Given the description of an element on the screen output the (x, y) to click on. 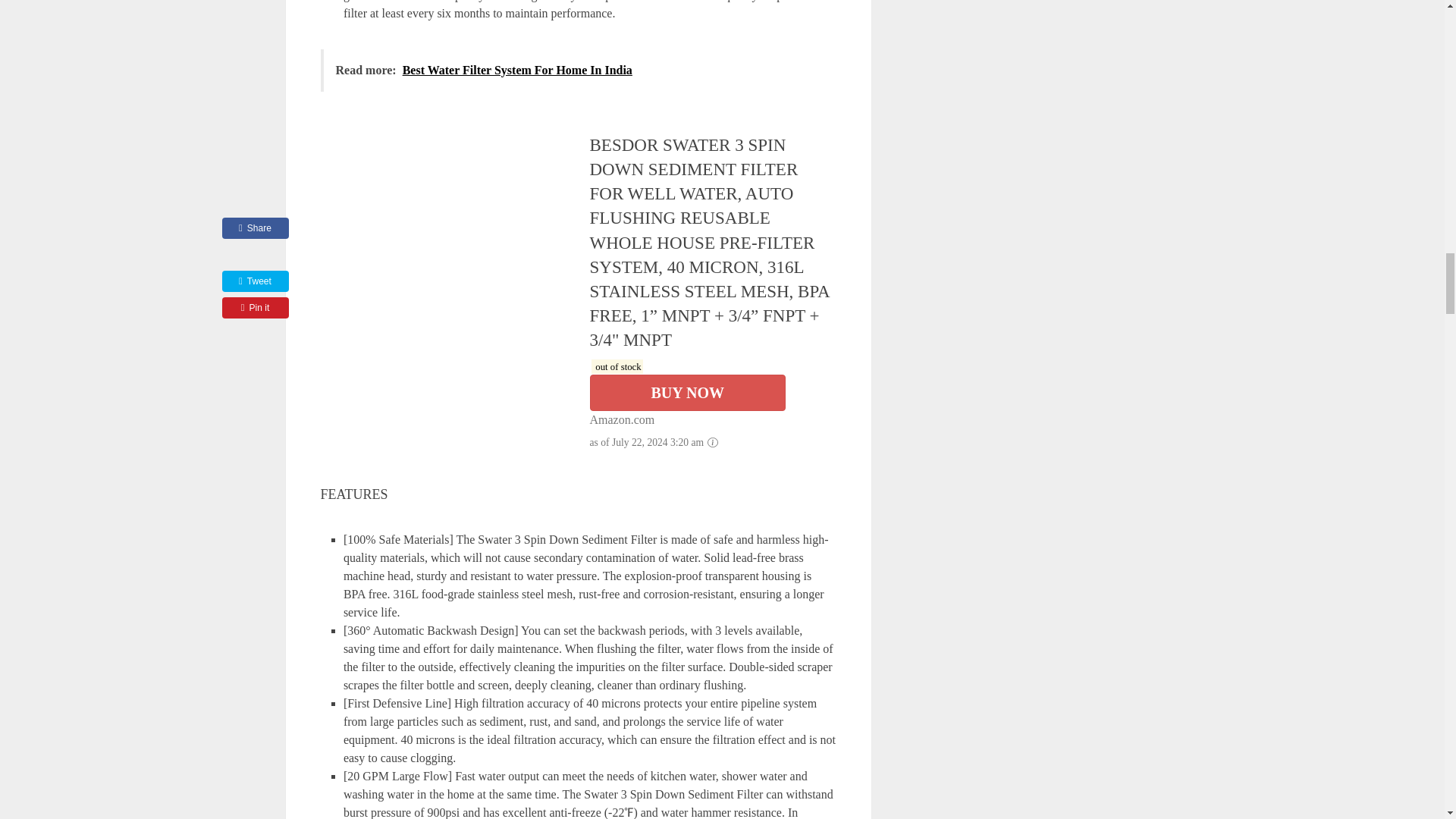
Last updated on July 22, 2024 3:20 am (617, 366)
